Given the description of an element on the screen output the (x, y) to click on. 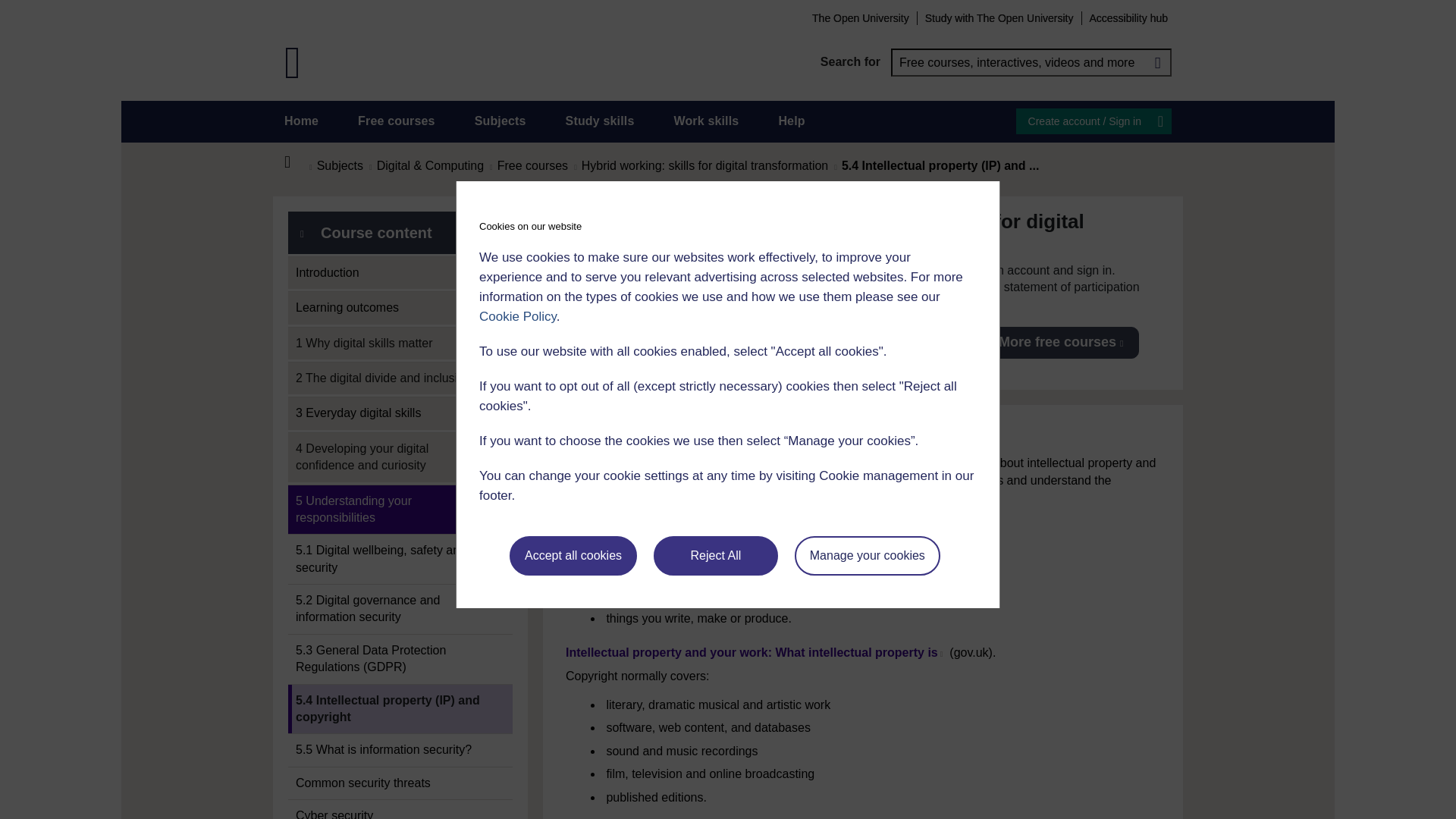
Study with The Open University (999, 17)
Study skills (600, 120)
Help (791, 120)
Cookie Policy (517, 316)
Accept all cookies (573, 555)
Manage your cookies (867, 555)
Subjects (499, 120)
Home (300, 120)
Work skills (705, 120)
Search (1157, 62)
Reject All (715, 555)
Accessibility hub (1129, 17)
Home (295, 162)
The Open University (860, 17)
Free courses (396, 120)
